Given the description of an element on the screen output the (x, y) to click on. 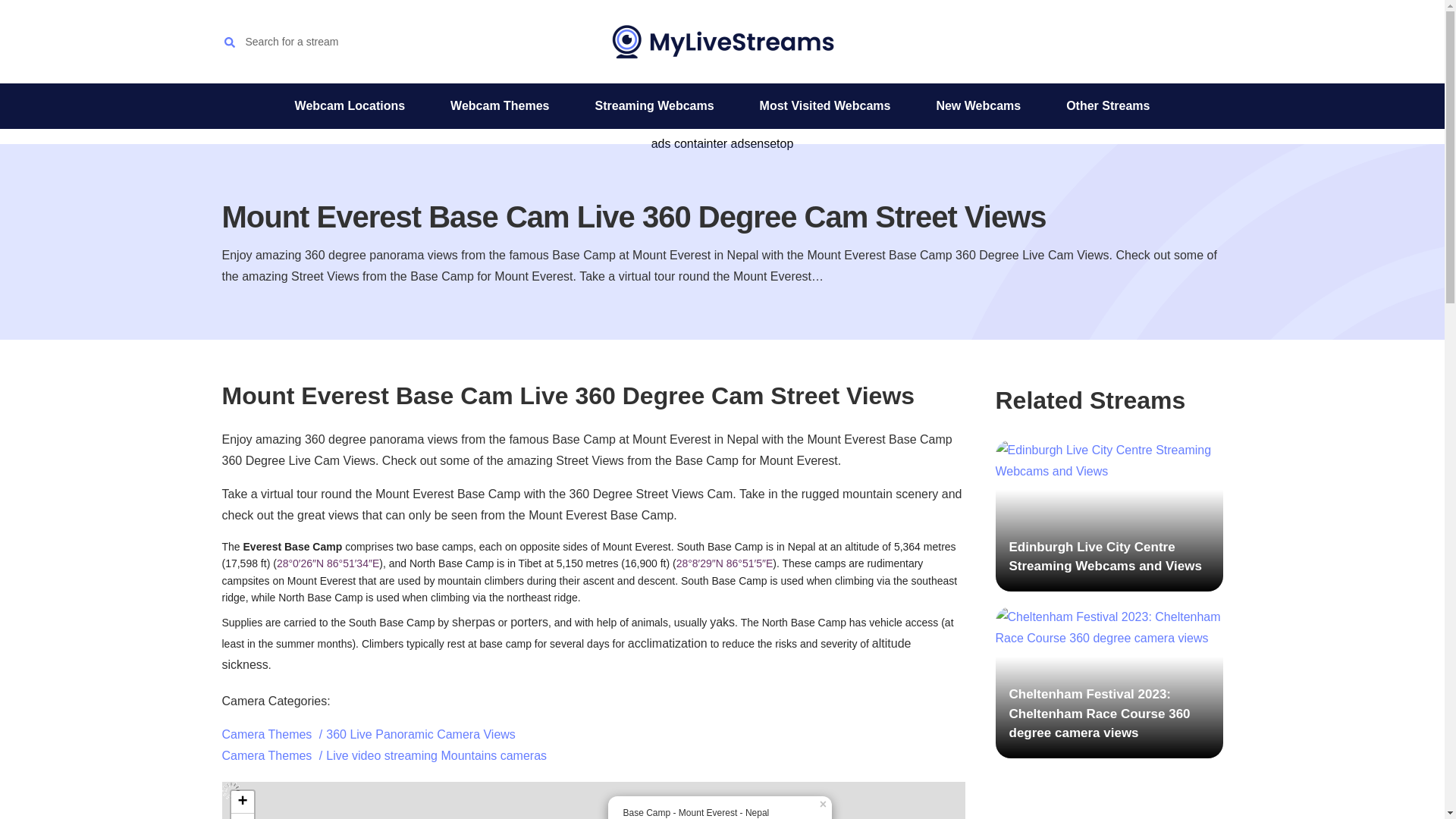
Zoom out (241, 816)
Maps, aerial photos, and other data for this location (327, 563)
Other Streams (1107, 105)
Zoom in (241, 802)
Edinburgh Live City Centre Streaming Webcams and Views (1108, 515)
Maps, aerial photos, and other data for this location (725, 563)
Webcam Themes (499, 105)
Webcam Locations (349, 105)
360 Live Panoramic Camera Views (420, 734)
